Given the description of an element on the screen output the (x, y) to click on. 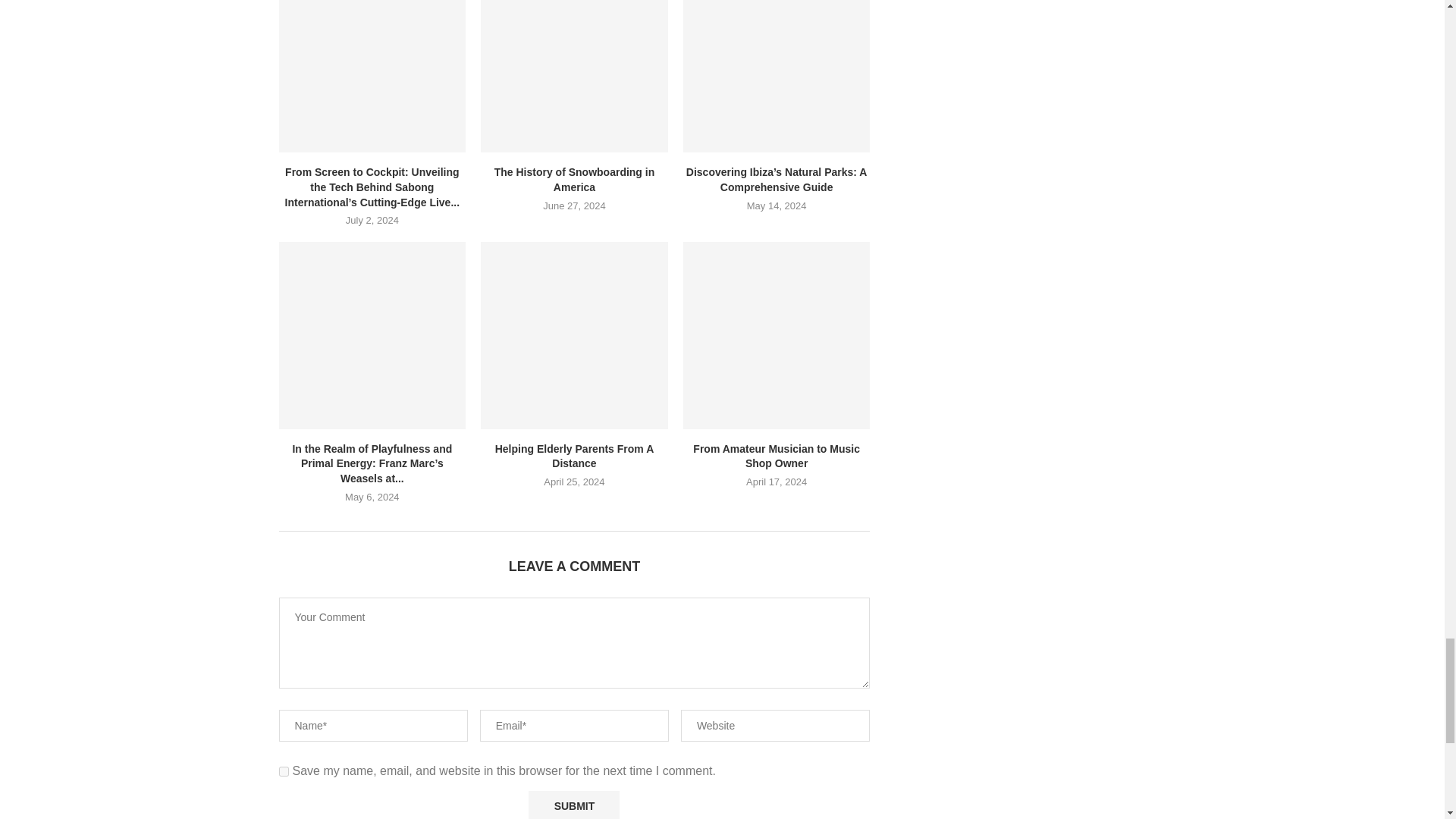
yes (283, 771)
Submit (574, 805)
